Given the description of an element on the screen output the (x, y) to click on. 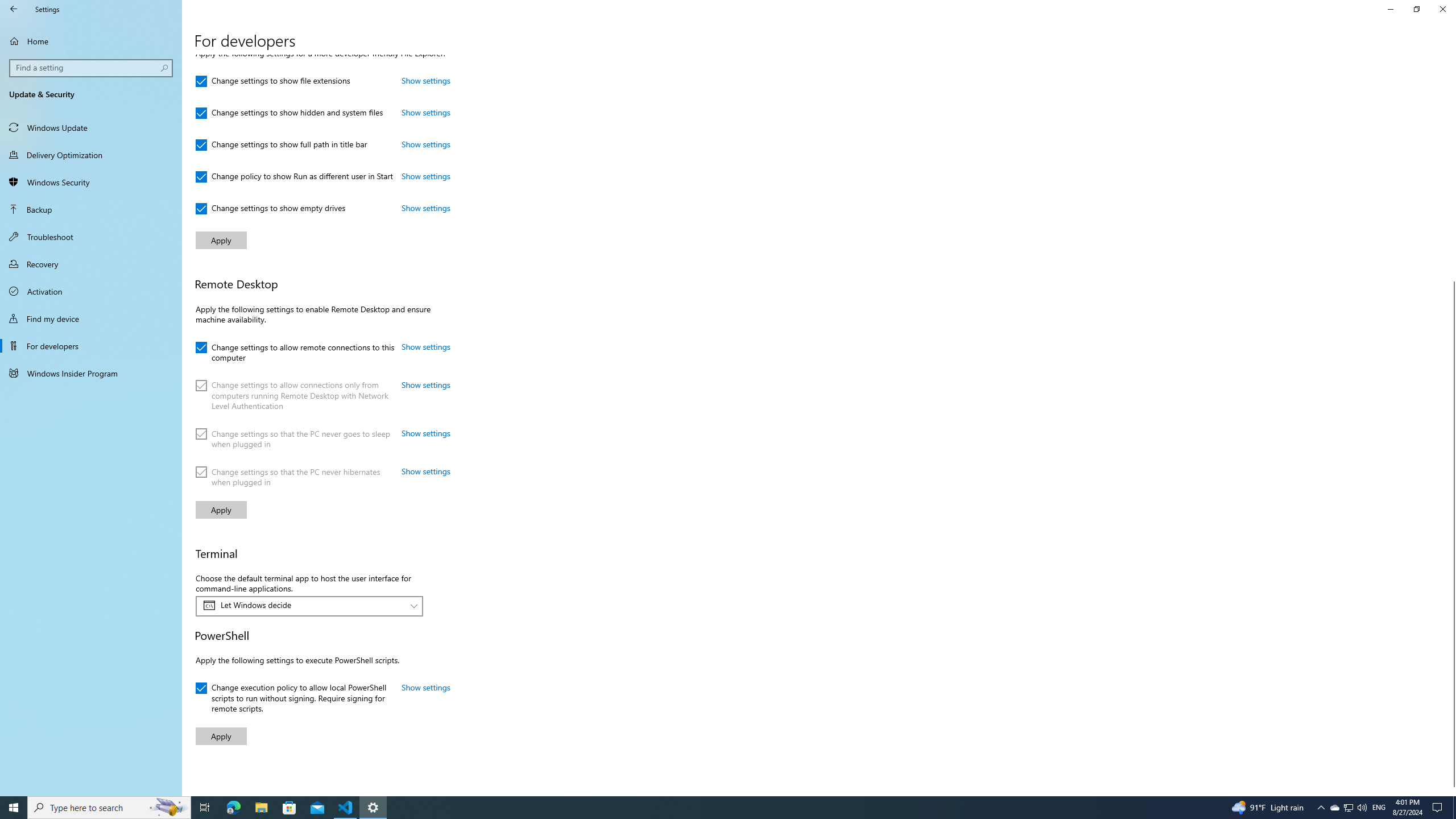
Close Settings (1442, 9)
